Given the description of an element on the screen output the (x, y) to click on. 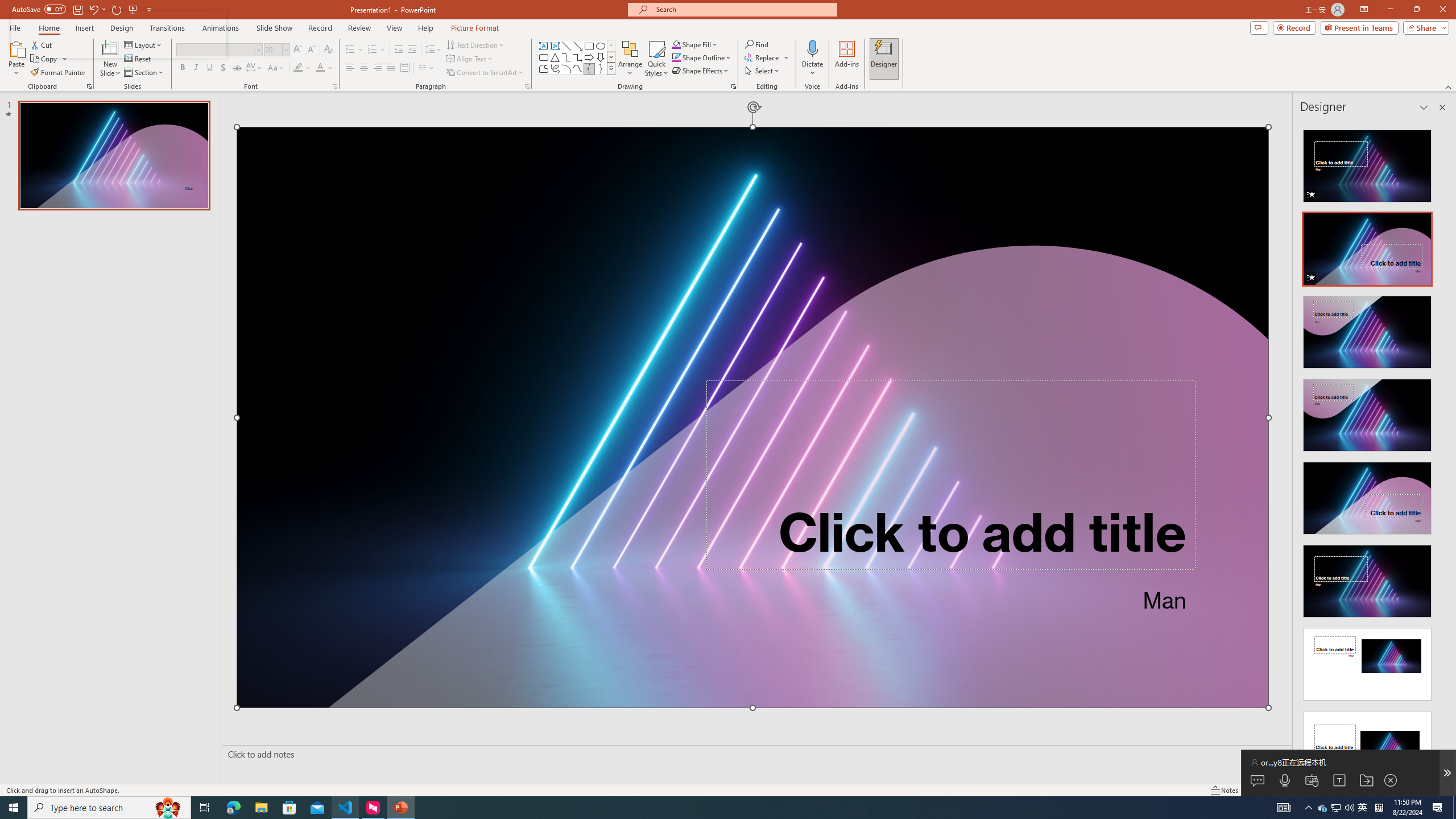
Design Idea with Animation (1366, 245)
Format Painter (58, 72)
Restore Down (1416, 9)
Zoom to Fit  (1449, 790)
Shape Fill Orange, Accent 2 (675, 44)
Columns (426, 67)
Rectangle (589, 45)
Underline (209, 67)
Row up (611, 45)
Customize Quick Access Toolbar (149, 9)
Paste (16, 48)
Find... (756, 44)
Design (122, 28)
